Given the description of an element on the screen output the (x, y) to click on. 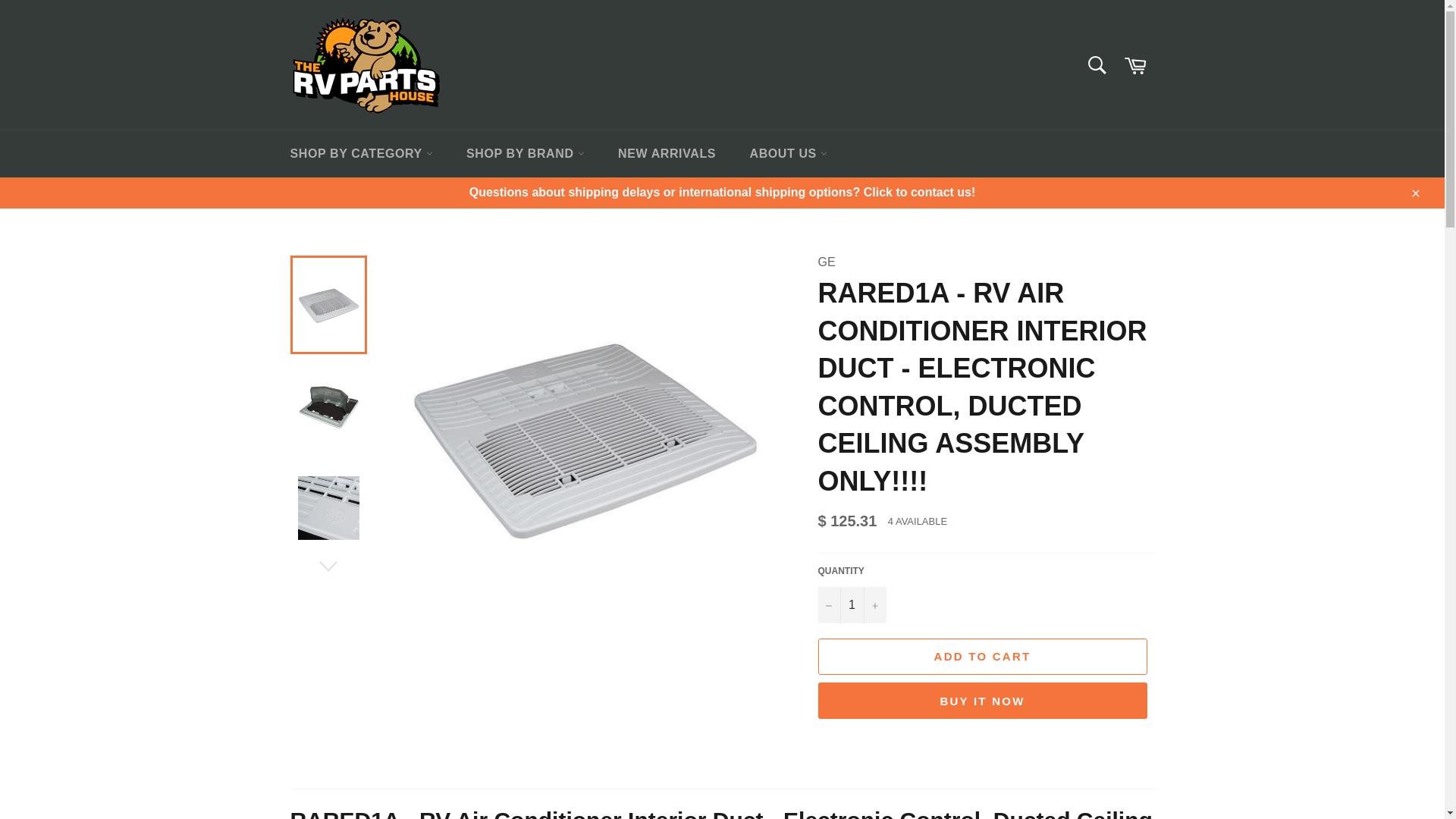
1 (850, 605)
